Given the description of an element on the screen output the (x, y) to click on. 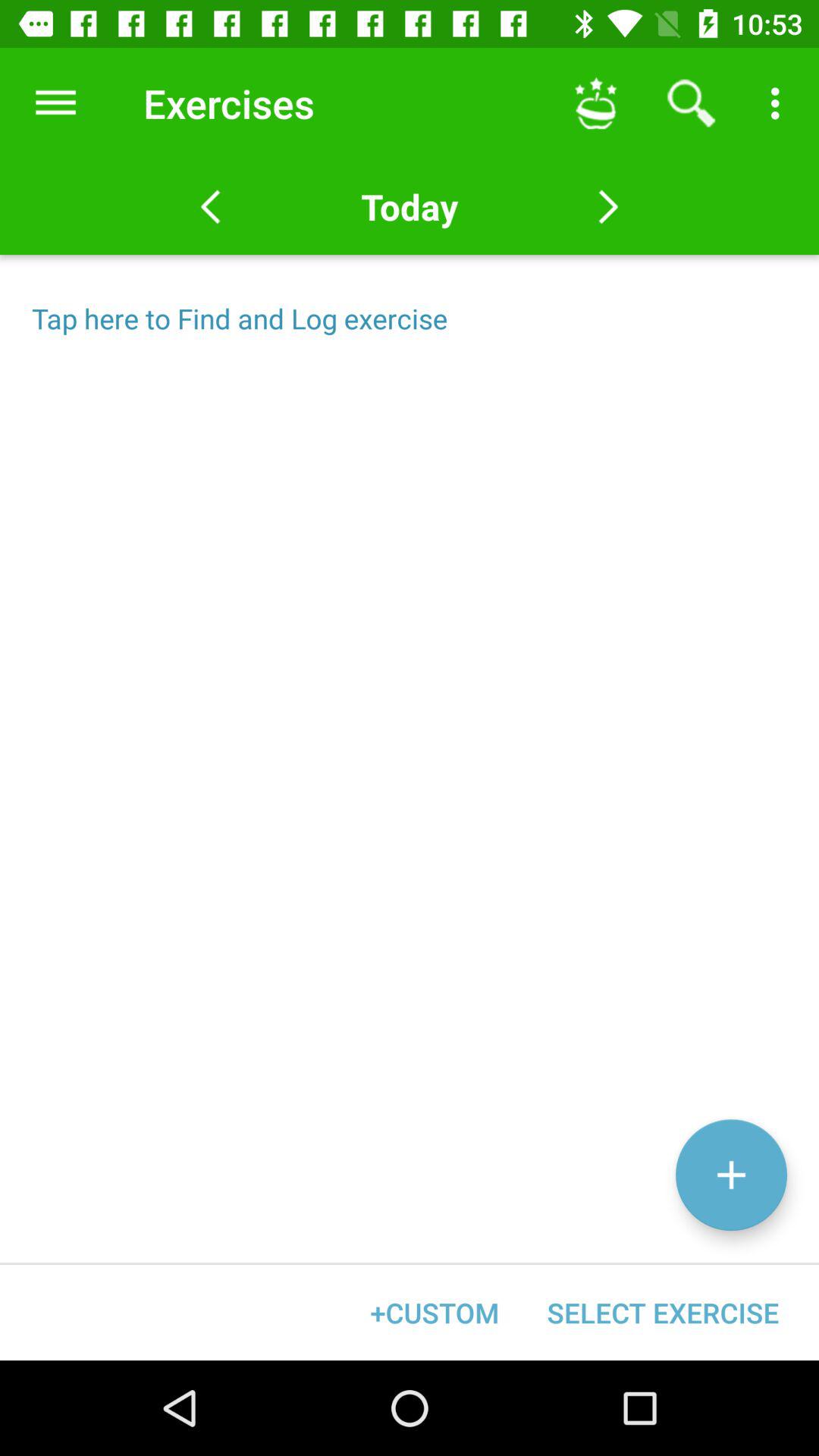
go to next page (608, 206)
